Given the description of an element on the screen output the (x, y) to click on. 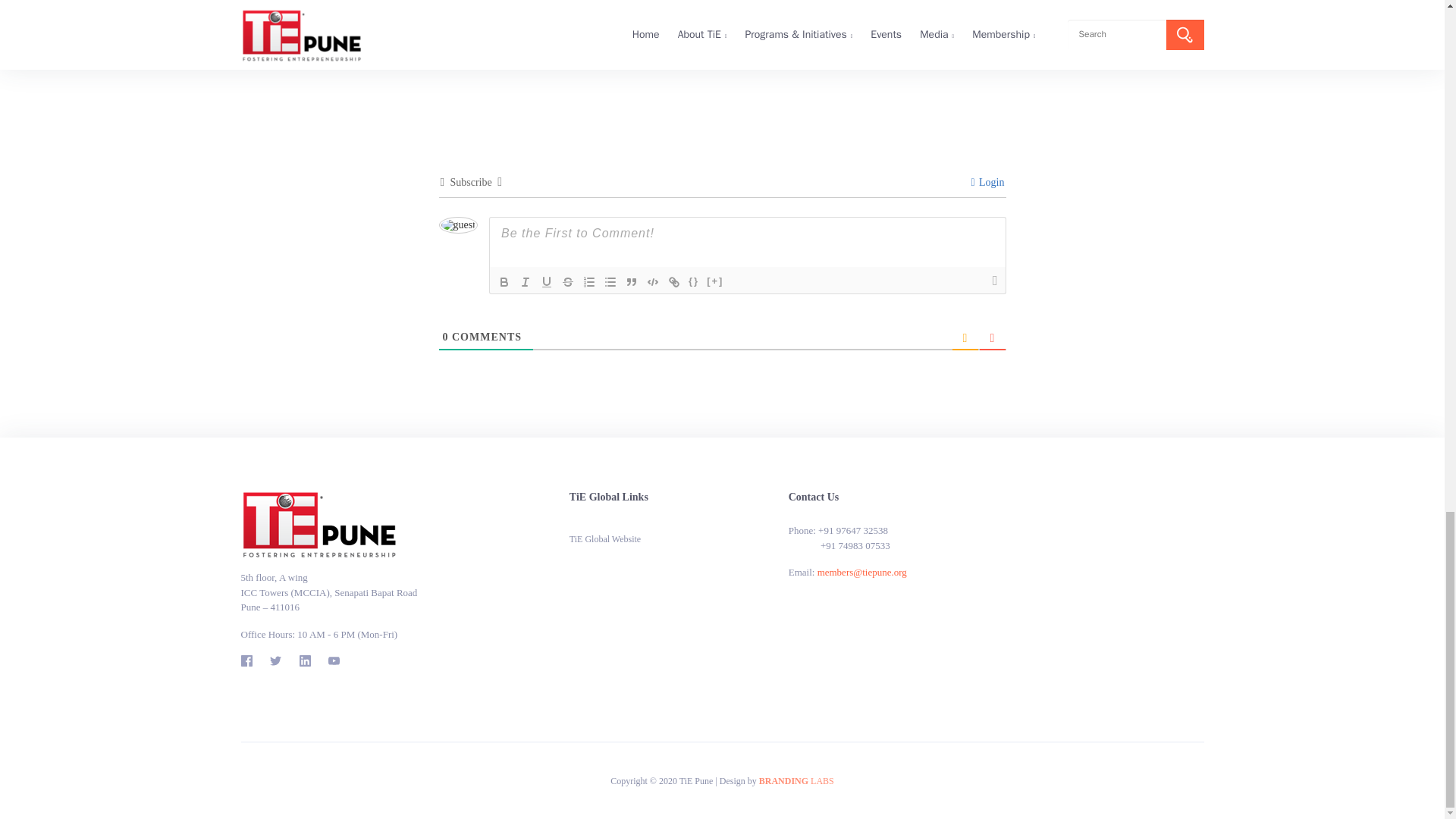
Strike (567, 281)
Underline (546, 281)
Bold (504, 281)
Italic (525, 281)
Facebook (663, 52)
Link (673, 281)
Ordered List (588, 281)
Unordered List (610, 281)
Code Block (652, 281)
Whatsapp (781, 52)
Linkedin (722, 52)
Pinterest (751, 52)
Twitter (692, 52)
Blockquote (631, 281)
